Given the description of an element on the screen output the (x, y) to click on. 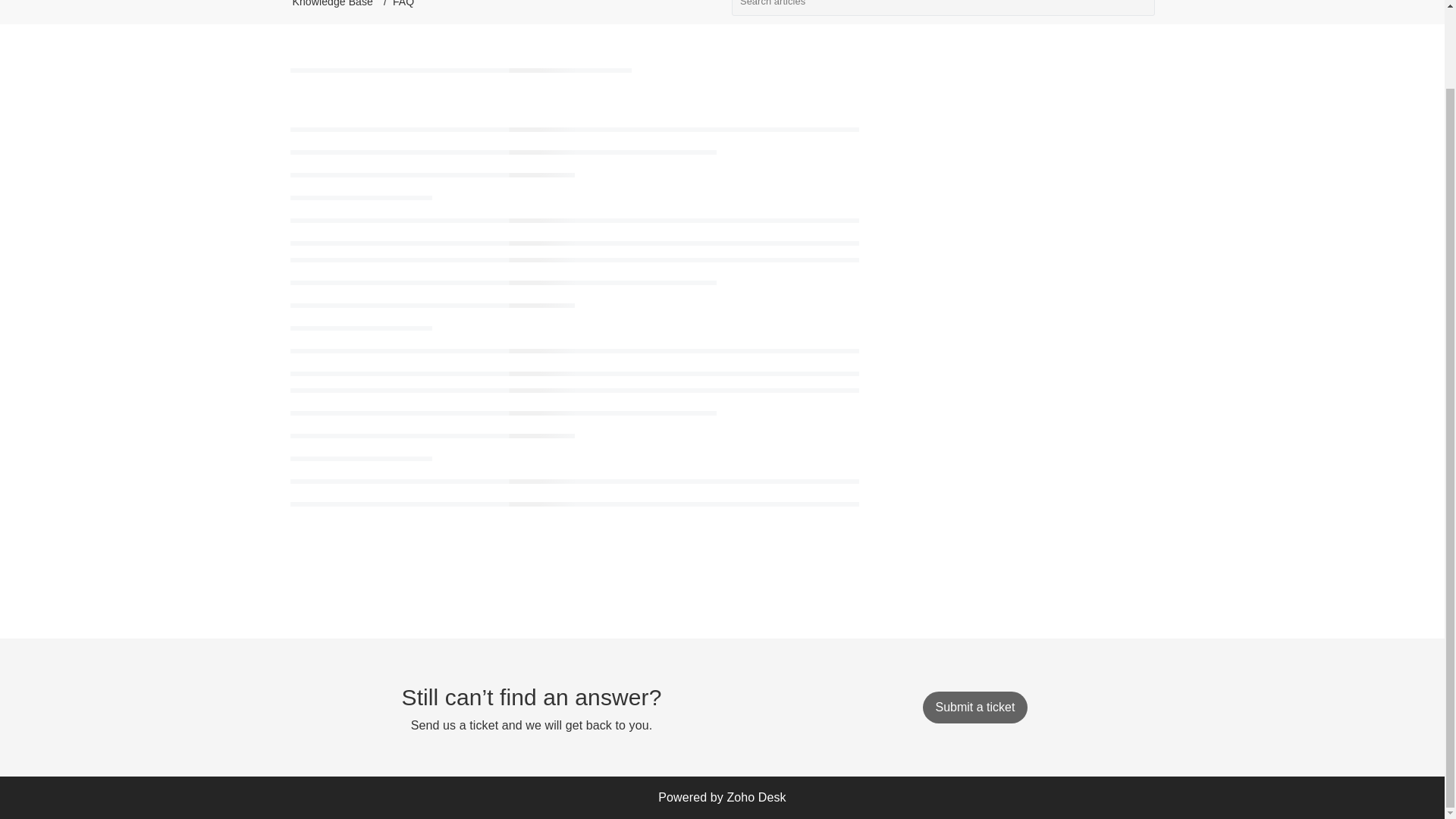
Zoho Desk (756, 797)
Submit a ticket (974, 707)
Submit a ticket (974, 707)
FAQ (403, 3)
Knowledge Base (332, 3)
